Given the description of an element on the screen output the (x, y) to click on. 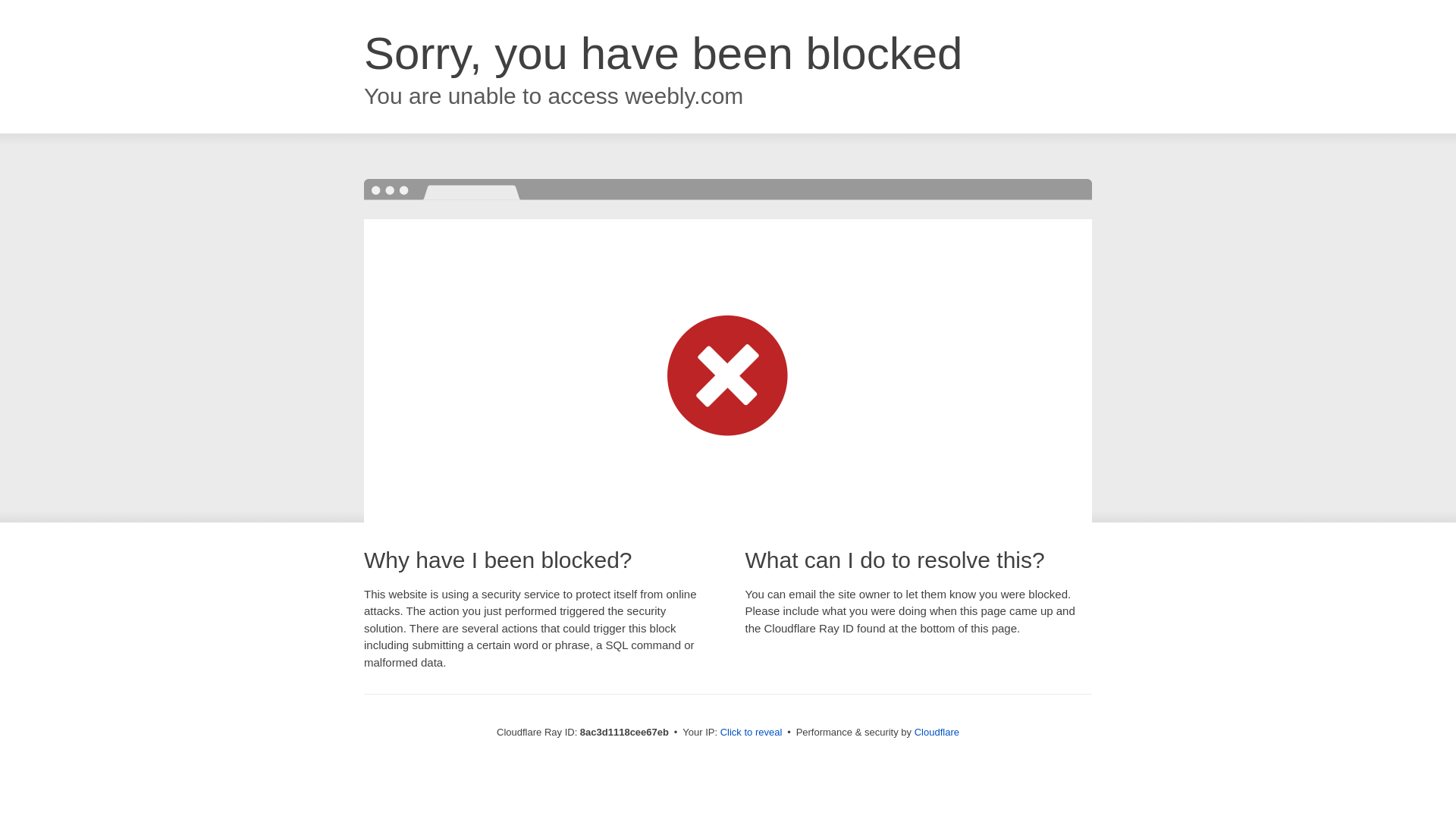
Cloudflare (936, 731)
Click to reveal (751, 732)
